Given the description of an element on the screen output the (x, y) to click on. 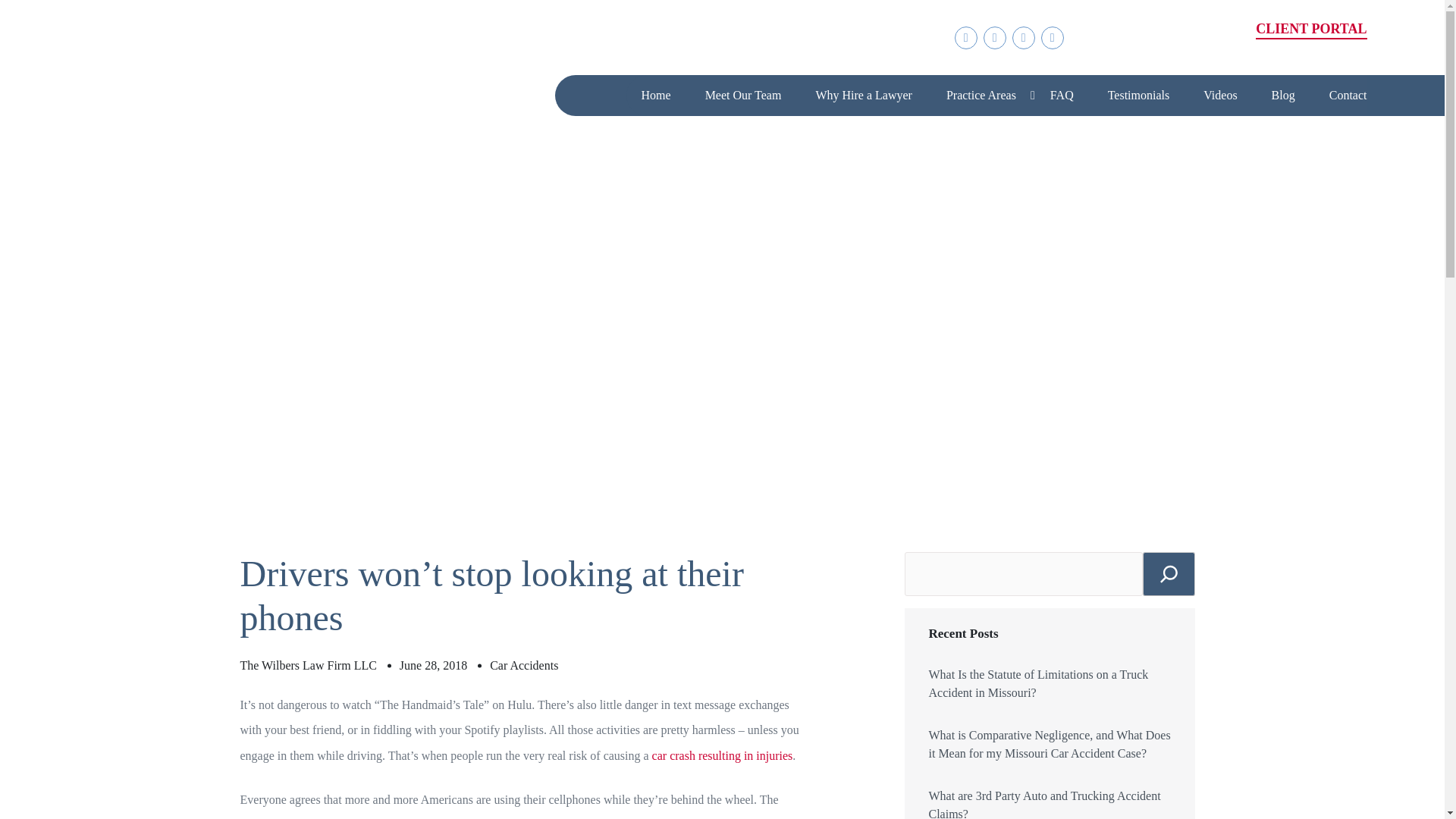
What are 3rd Party Auto and Trucking Accident Claims? (1049, 803)
Blog (1283, 95)
Why Hire a Lawyer (863, 95)
Meet Our Team (742, 95)
The Wilbers Law Firm LLC (307, 665)
Contact (1348, 95)
FAQ (1061, 95)
Videos (1220, 95)
Testimonials (1139, 95)
Home (656, 95)
314-721-3040 (1184, 44)
car crash resulting in injuries (722, 755)
Car Accidents (523, 665)
